Given the description of an element on the screen output the (x, y) to click on. 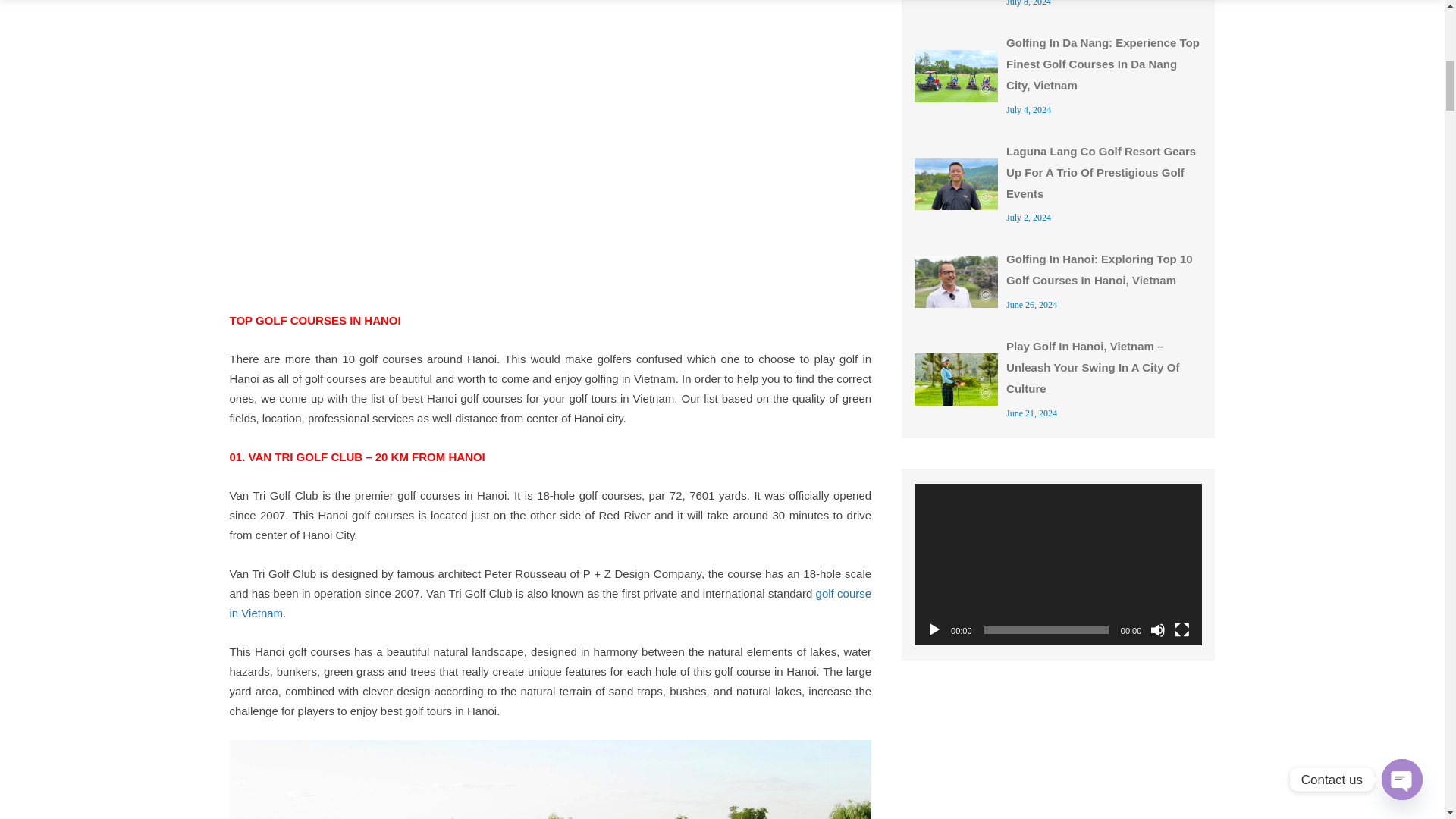
Mute (1158, 630)
Play (934, 630)
Fullscreen (1181, 630)
